Given the description of an element on the screen output the (x, y) to click on. 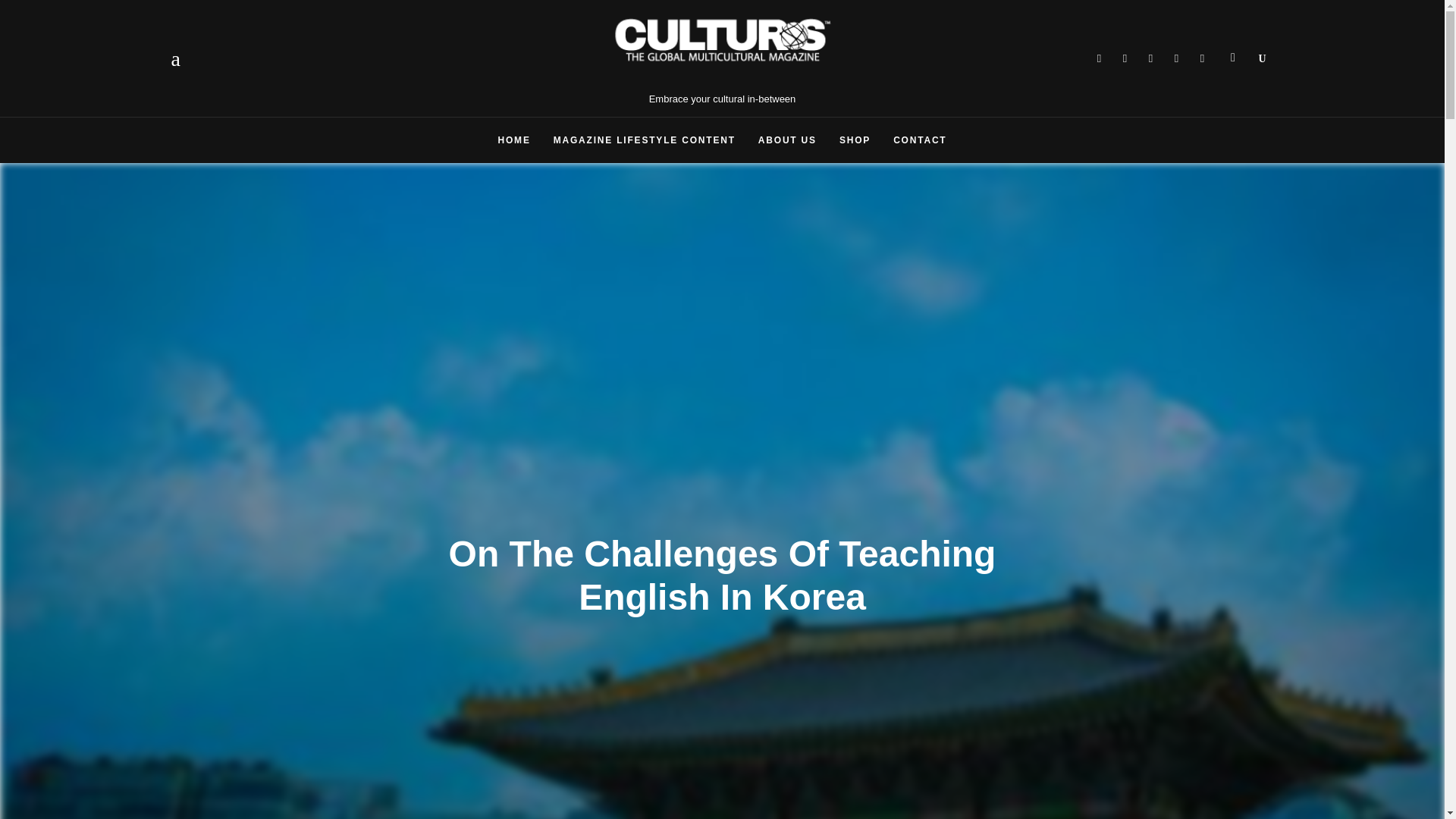
CULTURS PINTEREST PAGE (1150, 58)
HOME (513, 140)
CULTURS YOUTUBE CHANNEL (1176, 58)
Cultursmag (1202, 58)
CULTURS TWITTER (1125, 58)
MAGAZINE LIFESTYLE CONTENT (643, 140)
Cultursmag (1099, 58)
Cultursmag (1176, 58)
CULTURS INSTAGRAM (1202, 58)
Culturs (1150, 58)
CULTURS FACEBOOK PAGE (1099, 58)
Cultursmag (1125, 58)
MENU (180, 58)
